Given the description of an element on the screen output the (x, y) to click on. 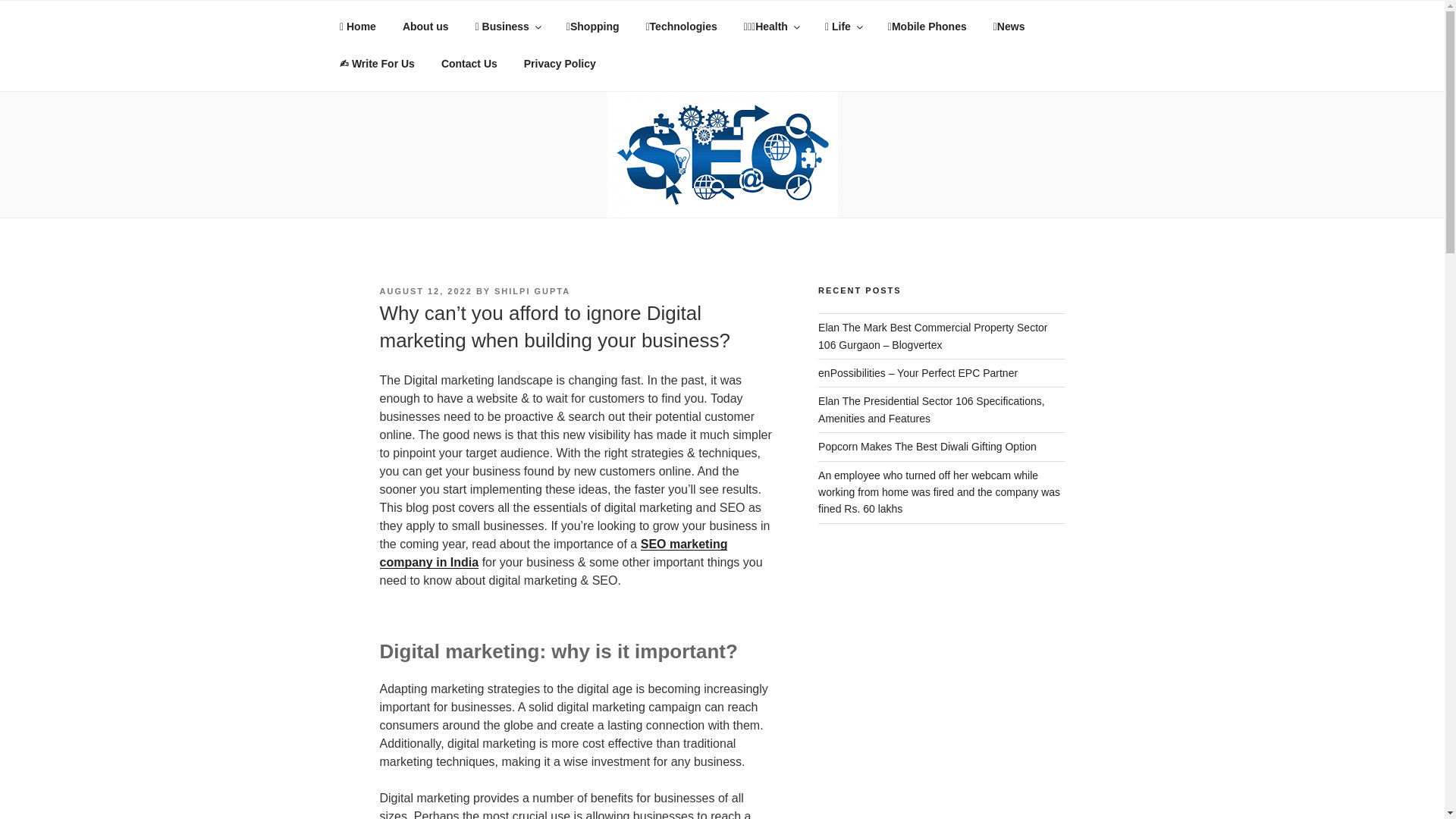
BLOG VERTEX (488, 71)
best seo agency (552, 552)
AUGUST 12, 2022 (424, 290)
Contact Us (469, 63)
SEO marketing company in India (552, 552)
About us (424, 26)
Privacy Policy (559, 63)
SHILPI GUPTA (532, 290)
